Given the description of an element on the screen output the (x, y) to click on. 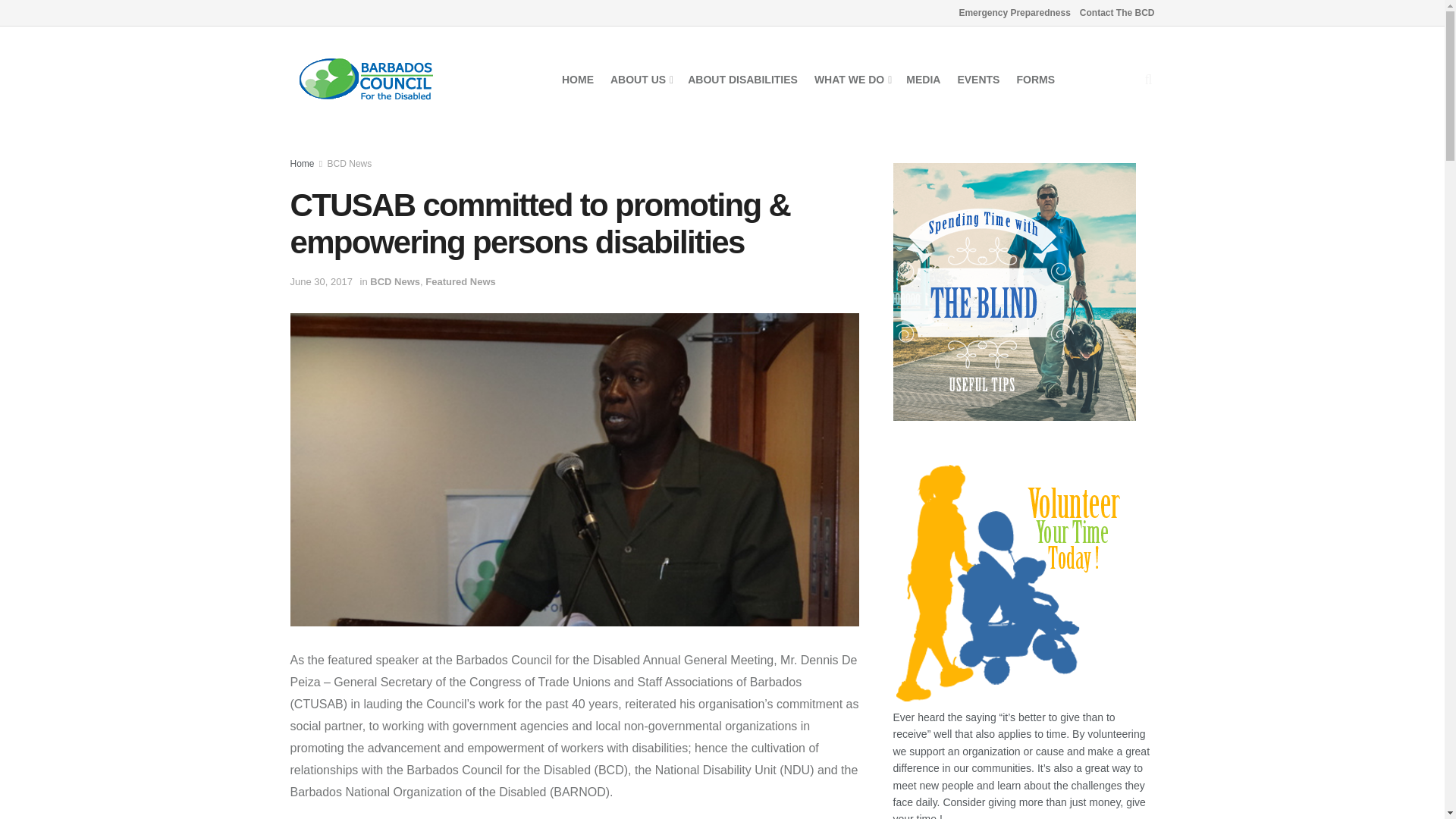
HOME (578, 79)
ABOUT US (640, 79)
ABOUT DISABILITIES (742, 79)
EVENTS (977, 79)
Emergency Preparedness (1014, 12)
WHAT WE DO (851, 79)
FORMS (1035, 79)
MEDIA (922, 79)
Contact The BCD (1117, 12)
